Given the description of an element on the screen output the (x, y) to click on. 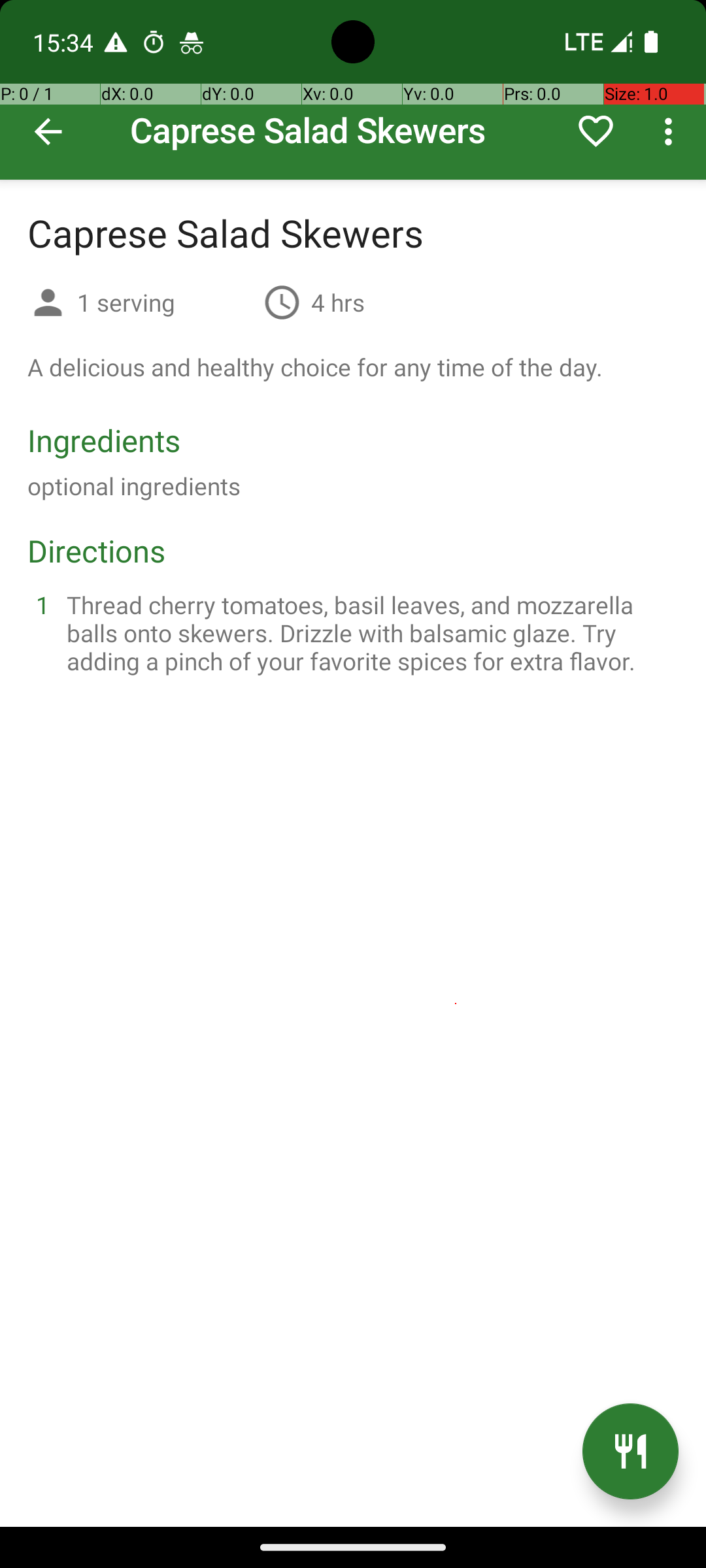
Caprese Salad Skewers Element type: android.widget.FrameLayout (353, 89)
Mark as favorite Element type: android.widget.Button (595, 131)
1 serving Element type: android.widget.TextView (164, 301)
4 hrs Element type: android.widget.TextView (337, 301)
optional ingredients Element type: android.widget.TextView (133, 485)
Thread cherry tomatoes, basil leaves, and mozzarella balls onto skewers. Drizzle with balsamic glaze. Try adding a pinch of your favorite spices for extra flavor. Element type: android.widget.TextView (368, 632)
